Given the description of an element on the screen output the (x, y) to click on. 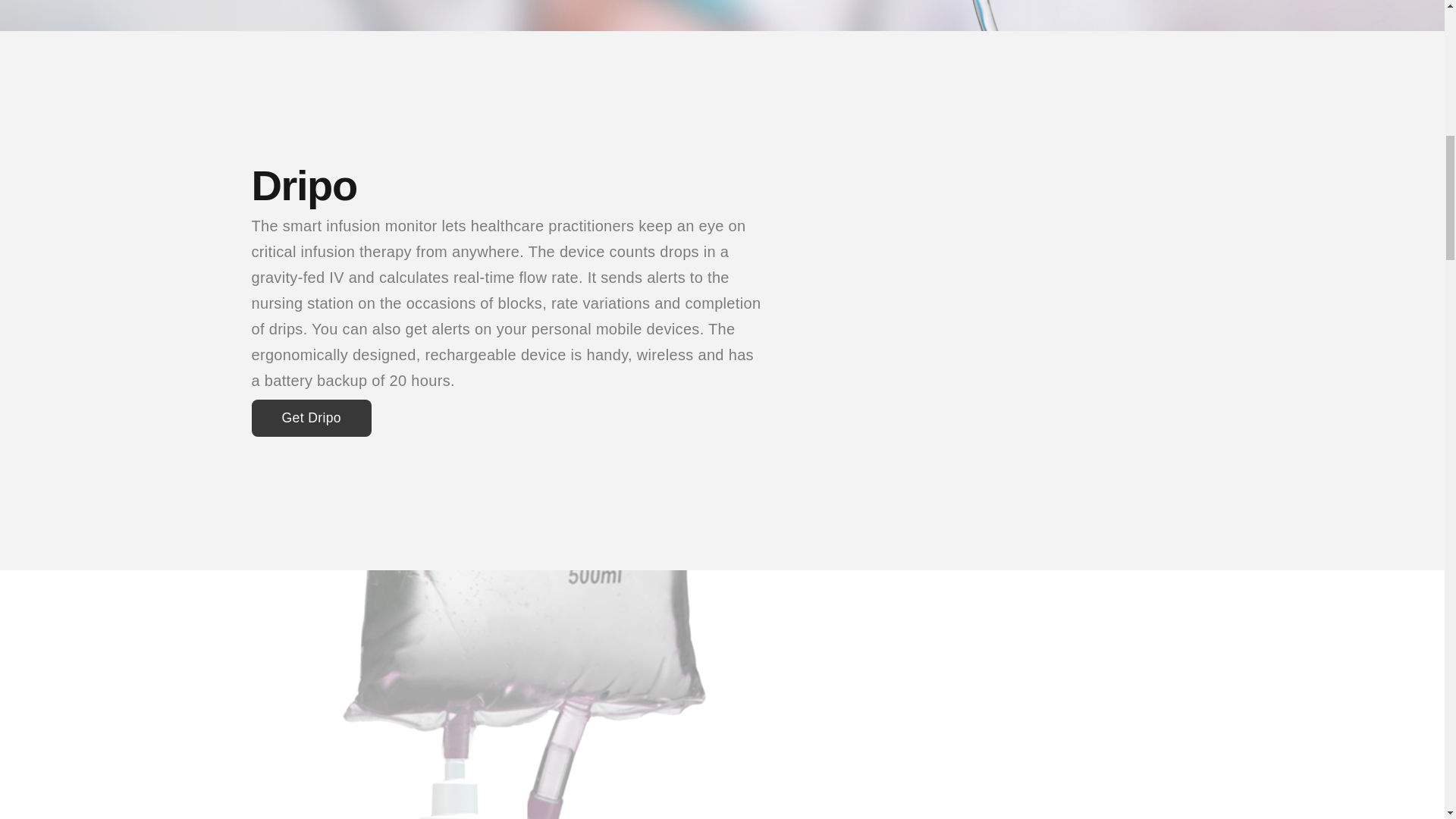
Get Dripo (311, 418)
